Given the description of an element on the screen output the (x, y) to click on. 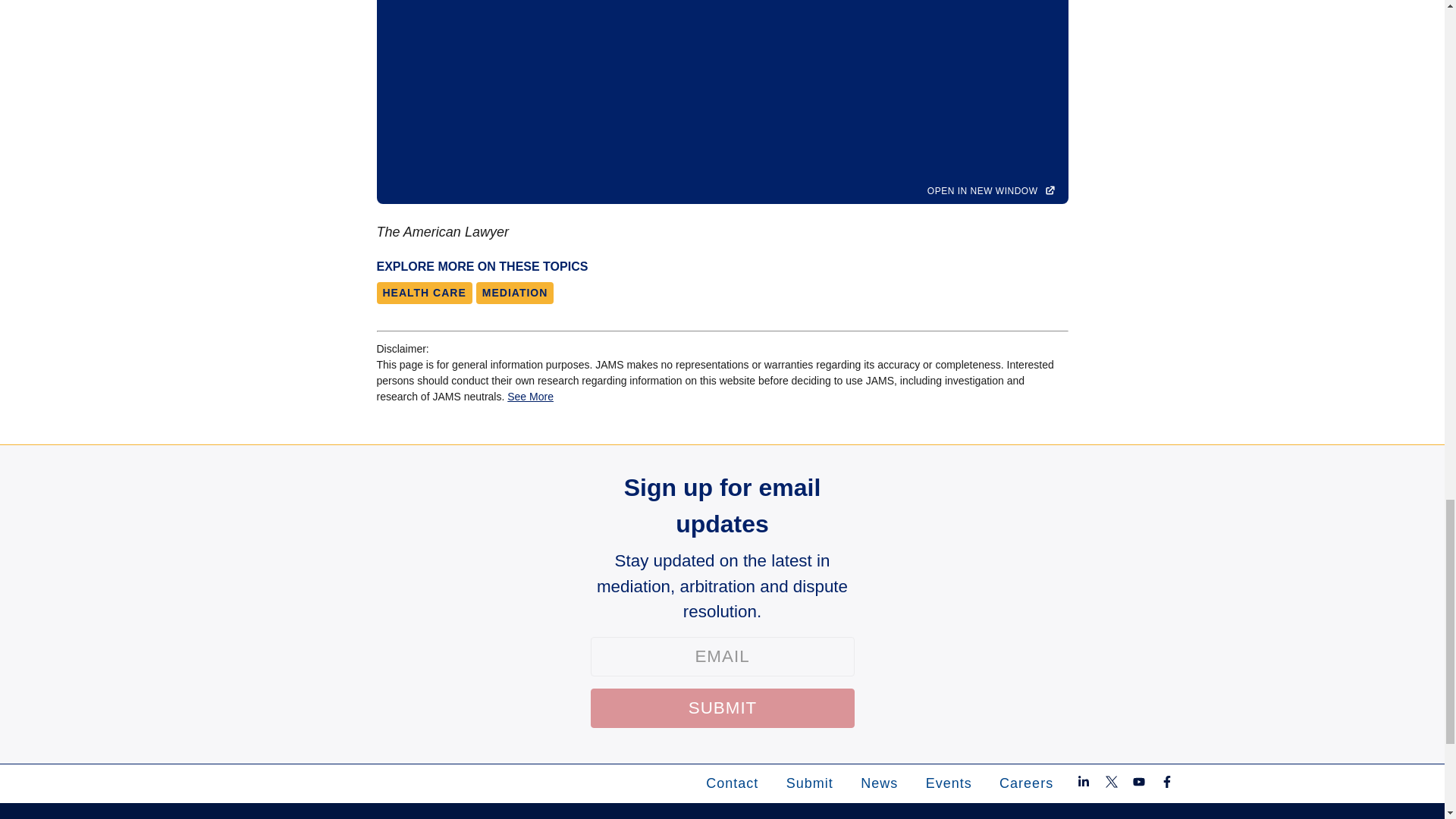
SUBMIT (721, 708)
